Given the description of an element on the screen output the (x, y) to click on. 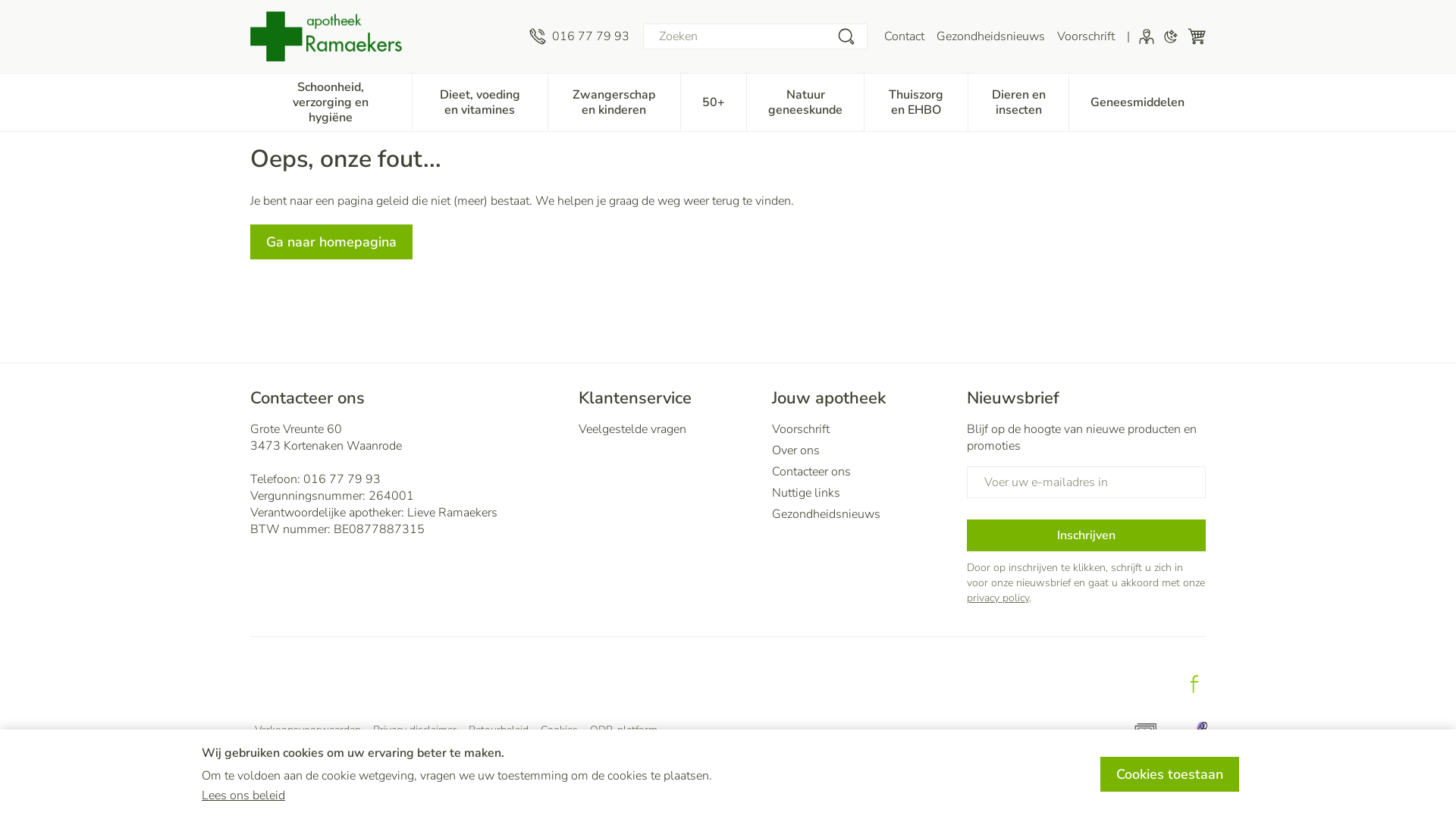
privacy policy Element type: text (997, 597)
Klant menu Element type: text (1146, 35)
Verkoopsvoorwaarden Element type: text (307, 729)
Thuiszorg en EHBO Element type: text (915, 100)
50+ Element type: text (713, 100)
Contact Element type: text (904, 36)
Voorschrift Element type: text (862, 428)
Contacteer ons Element type: text (862, 471)
Winkelwagen Element type: text (1196, 36)
Retourbeleid Element type: text (498, 729)
Privacy disclaimer Element type: text (414, 729)
ODR-platform Element type: text (623, 729)
Nuttige links Element type: text (862, 492)
Dieet, voeding en vitamines Element type: text (479, 100)
Cookies toestaan Element type: text (1169, 773)
Zoeken Element type: text (846, 36)
Lees ons beleid Element type: text (243, 795)
Ga naar homepagina Element type: text (331, 241)
Gezondheidsnieuws Element type: text (990, 36)
Apotheek Ramaekers Element type: hover (383, 36)
Inschrijven Element type: text (1085, 535)
Apotheek Ramaekers Element type: hover (325, 36)
Gezondheidsnieuws Element type: text (862, 513)
Voorschrift Element type: text (1085, 36)
Geneesmiddelen Element type: text (1137, 100)
Zwangerschap en kinderen Element type: text (614, 100)
Natuur geneeskunde Element type: text (804, 100)
Over ons Element type: text (862, 450)
Facebook Element type: hover (1194, 683)
Veelgestelde vragen Element type: text (669, 428)
Dieren en insecten Element type: text (1018, 100)
Cookies Element type: text (558, 729)
016 77 79 93 Element type: text (579, 36)
016 77 79 93 Element type: text (341, 478)
Donkere modus Element type: text (1170, 35)
